Given the description of an element on the screen output the (x, y) to click on. 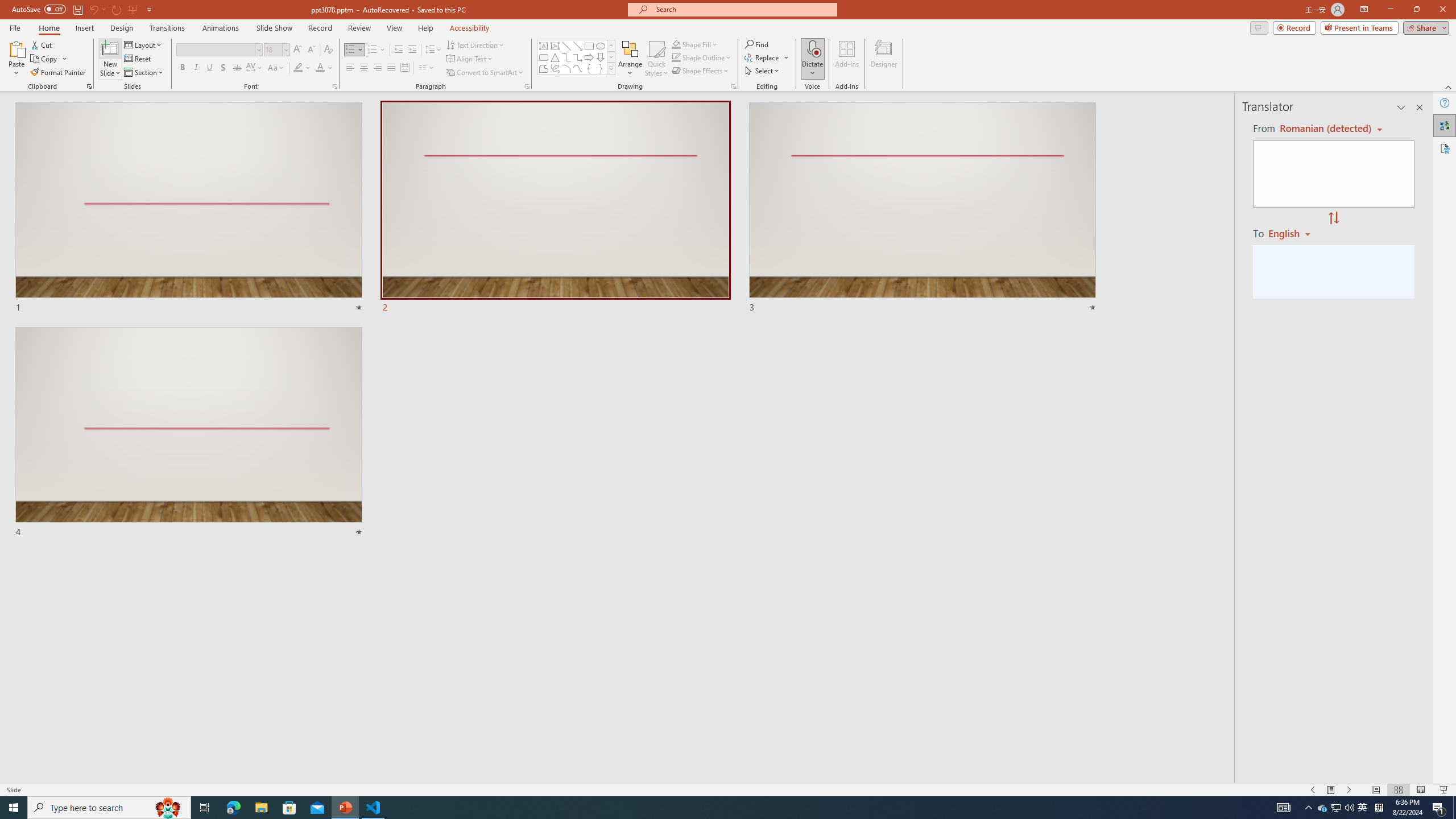
Rectangle: Rounded Corners (543, 57)
Connector: Elbow (566, 57)
Menu On (1331, 790)
Layout (143, 44)
Find... (756, 44)
Arc (566, 68)
